Given the description of an element on the screen output the (x, y) to click on. 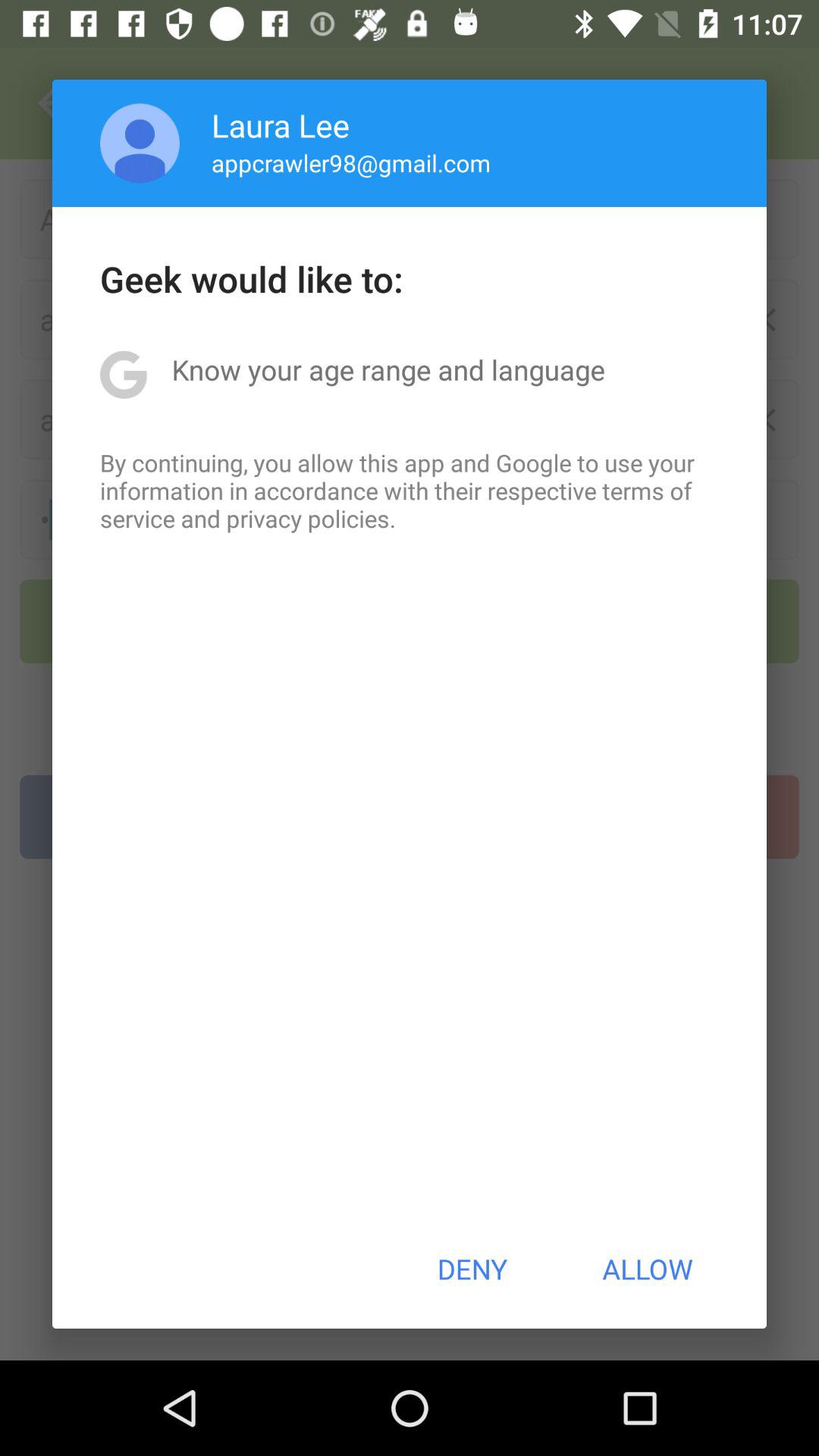
select the know your age (388, 369)
